Given the description of an element on the screen output the (x, y) to click on. 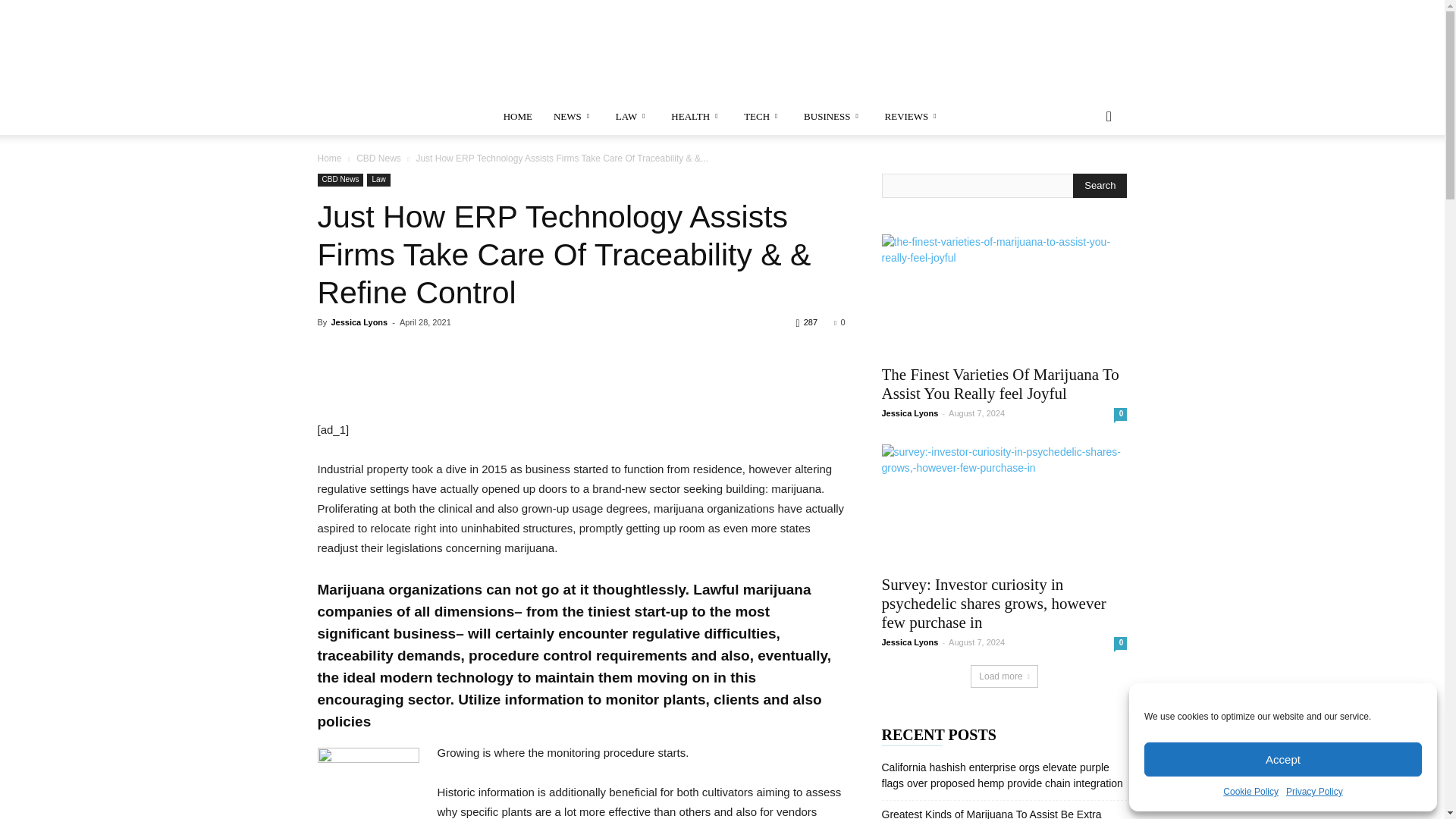
Search (1099, 185)
Accept (1283, 759)
Privacy Policy (1313, 791)
Cookie Policy (1250, 791)
